Given the description of an element on the screen output the (x, y) to click on. 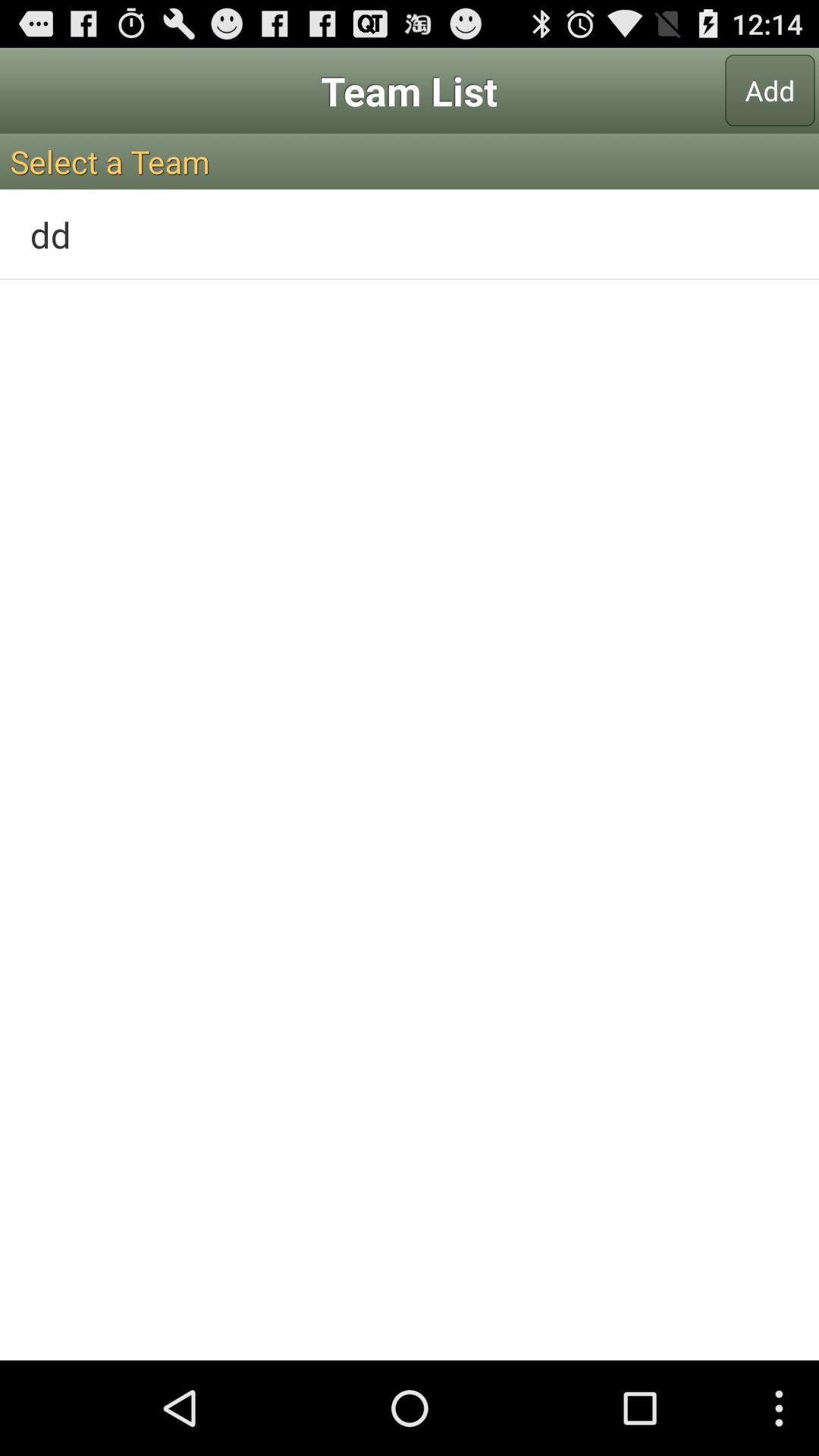
launch the dd (409, 234)
